Given the description of an element on the screen output the (x, y) to click on. 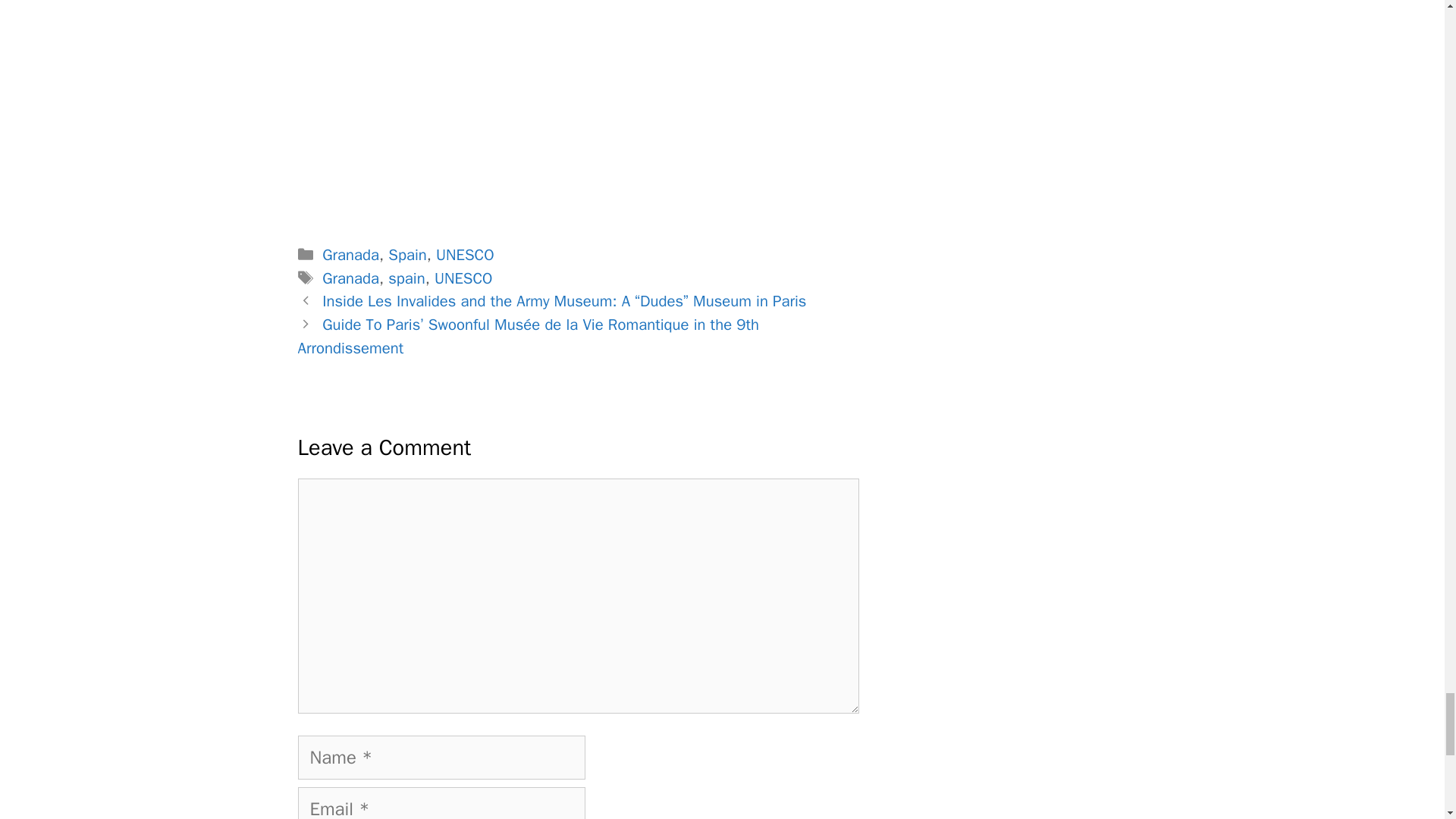
Granada (349, 254)
Spain (407, 254)
